Given the description of an element on the screen output the (x, y) to click on. 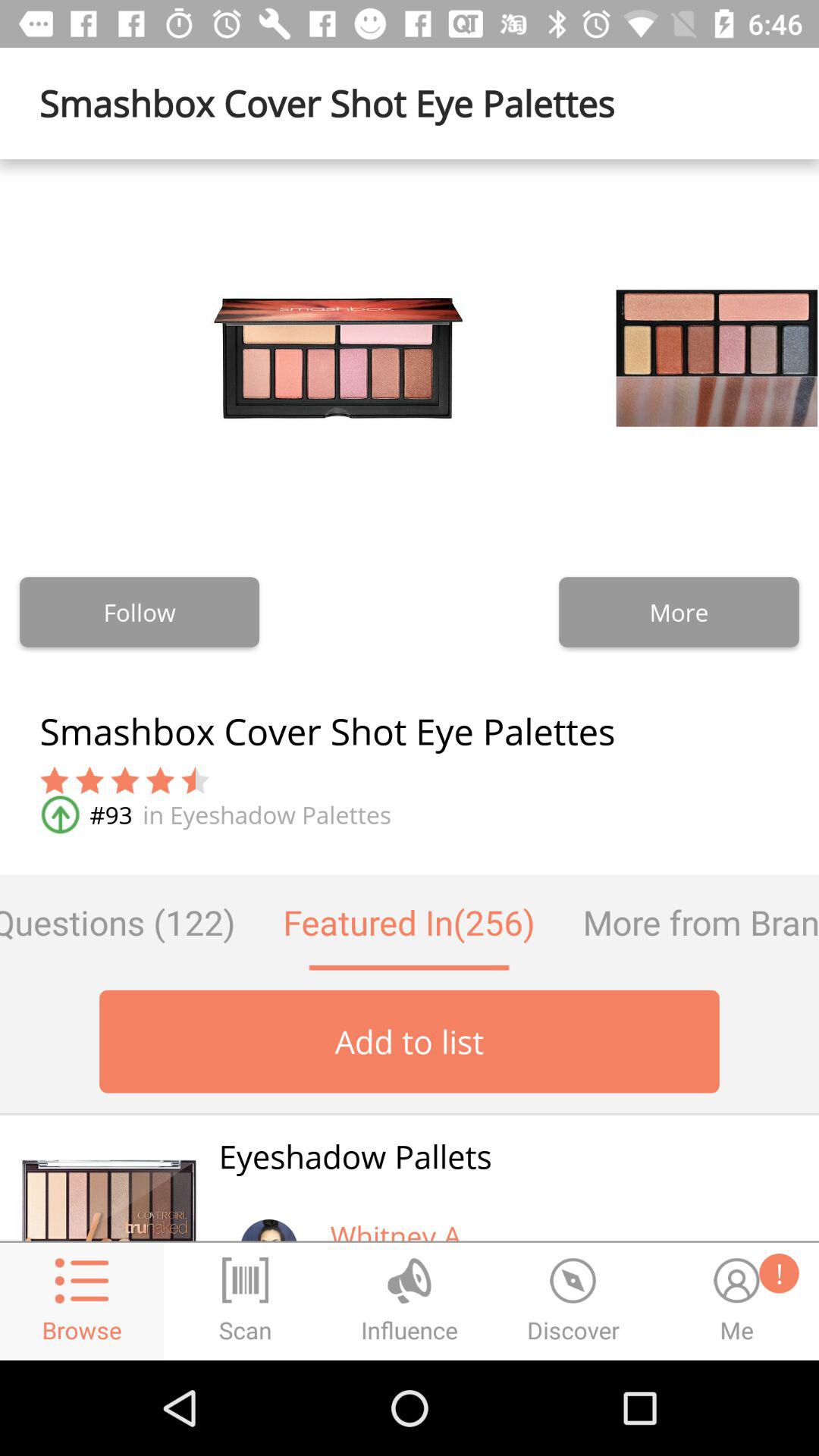
press item next to the ! item (399, 1229)
